Given the description of an element on the screen output the (x, y) to click on. 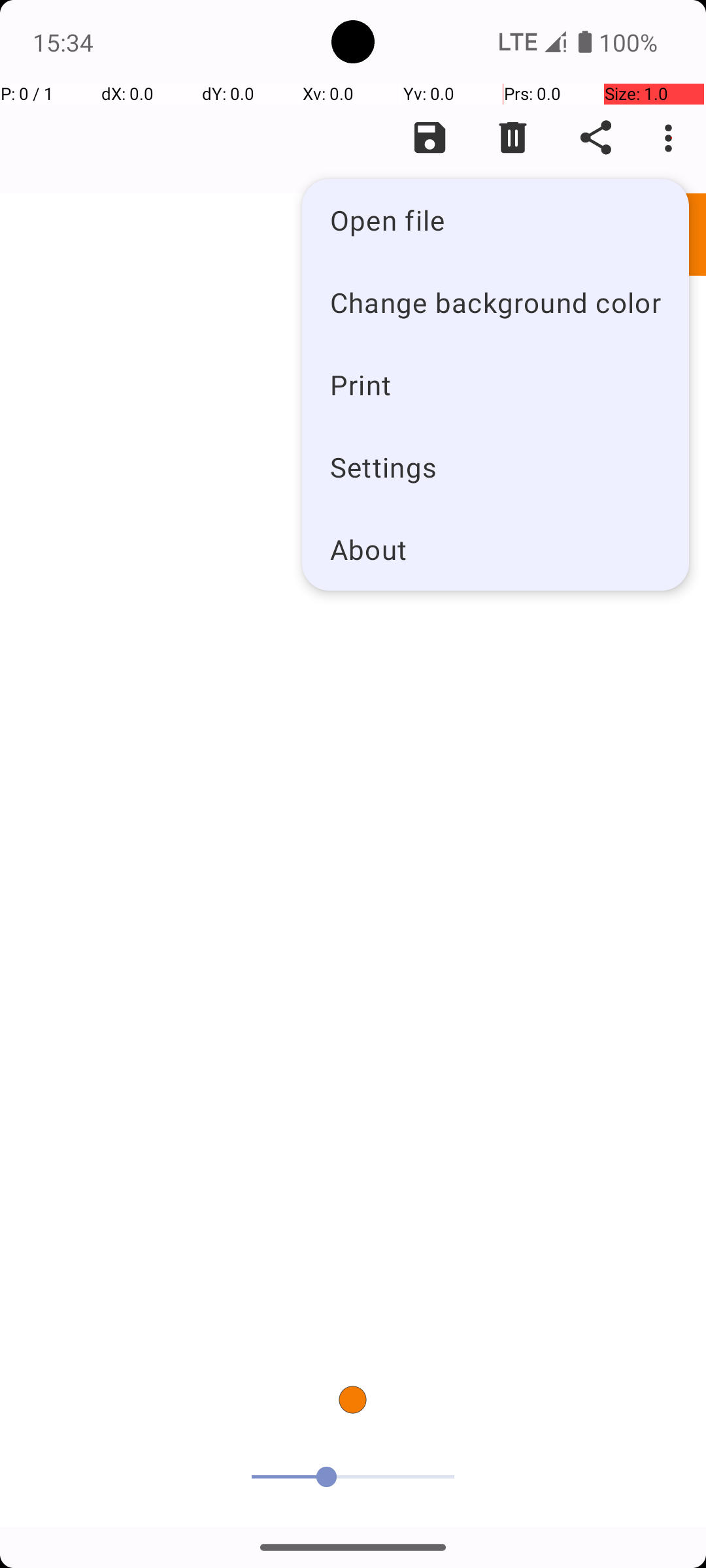
Open file Element type: android.widget.TextView (495, 219)
Change background color Element type: android.widget.TextView (495, 301)
Print Element type: android.widget.TextView (495, 384)
